Given the description of an element on the screen output the (x, y) to click on. 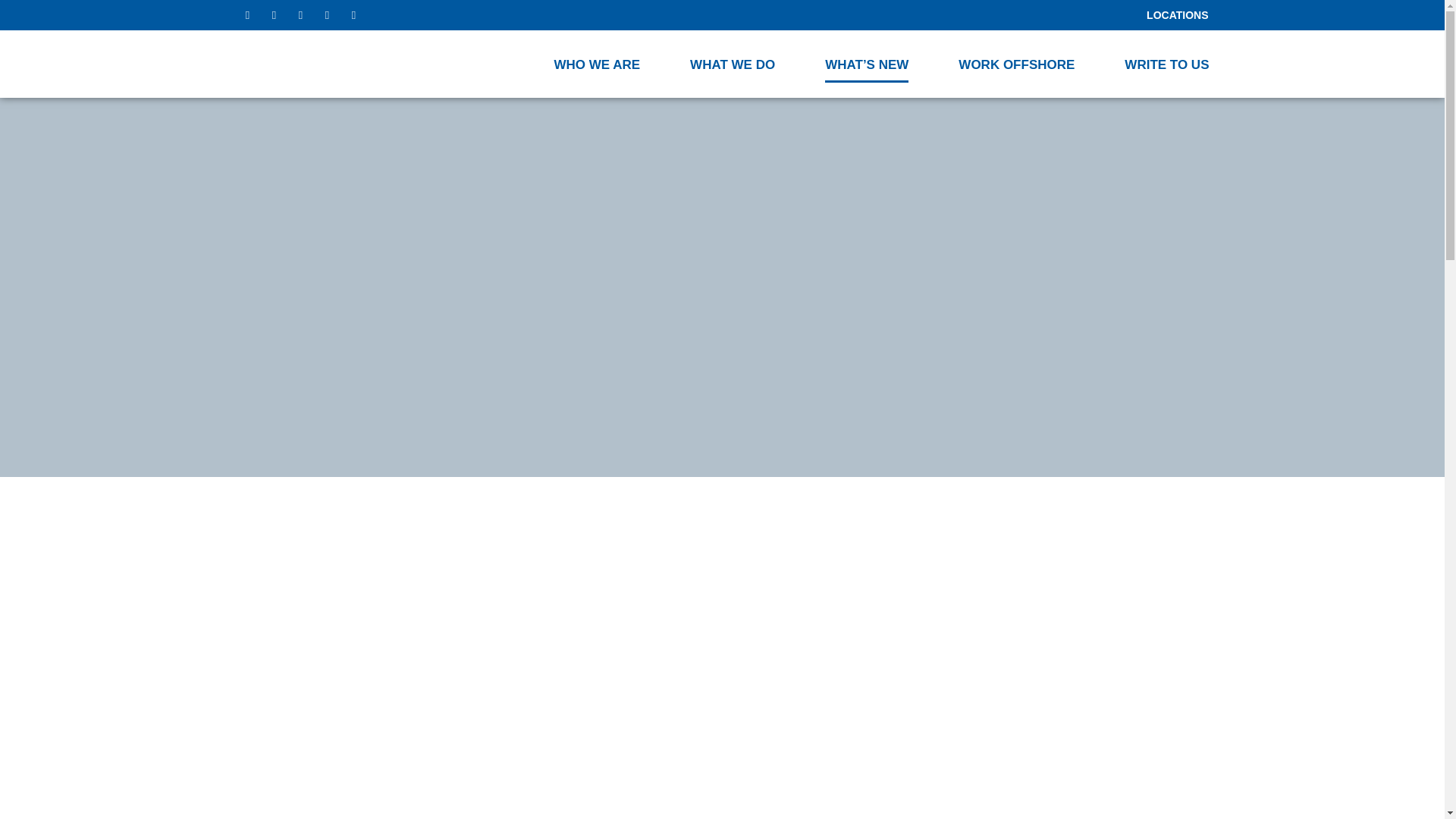
WORK OFFSHORE (1016, 63)
WHAT WE DO (732, 63)
WHO WE ARE (596, 63)
WRITE TO US (1166, 63)
LOCATIONS (1177, 15)
